Given the description of an element on the screen output the (x, y) to click on. 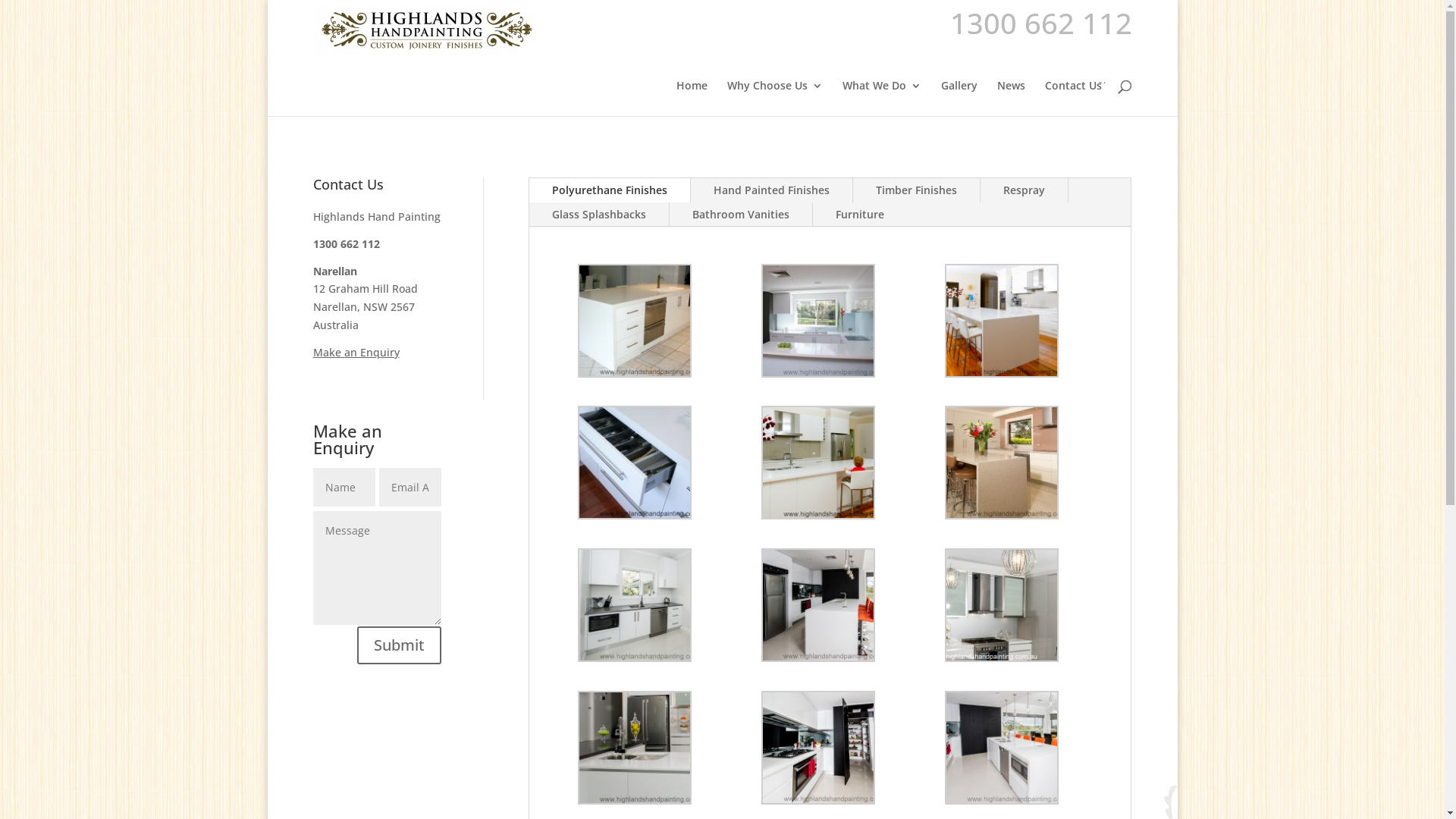
Polyurethane Finishes Element type: text (609, 190)
Hand Painted Finishes Element type: text (771, 190)
Make an Enquiry Element type: text (355, 352)
Timber Finishes Element type: text (916, 190)
News Element type: text (1010, 98)
Submit Element type: text (399, 645)
Contact Us Element type: text (1072, 98)
Respray Element type: text (1023, 190)
Home Element type: text (691, 98)
Gallery Element type: text (958, 98)
Glass Splashbacks Element type: text (598, 214)
Search for: Element type: hover (1102, 82)
What We Do Element type: text (880, 98)
Bathroom Vanities Element type: text (740, 214)
Why Choose Us Element type: text (774, 98)
Furniture Element type: text (859, 214)
